Given the description of an element on the screen output the (x, y) to click on. 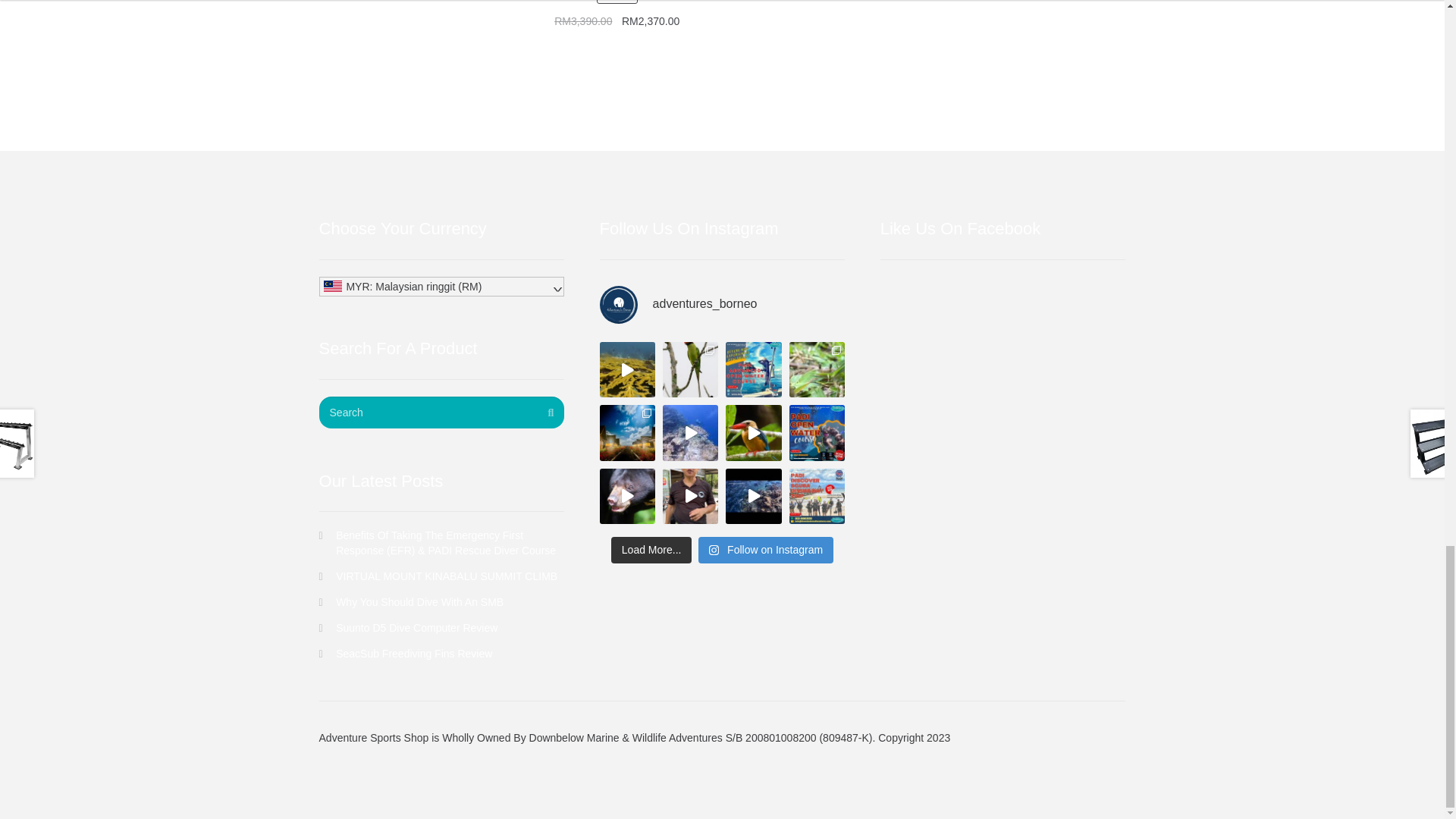
Search for: (441, 412)
